Given the description of an element on the screen output the (x, y) to click on. 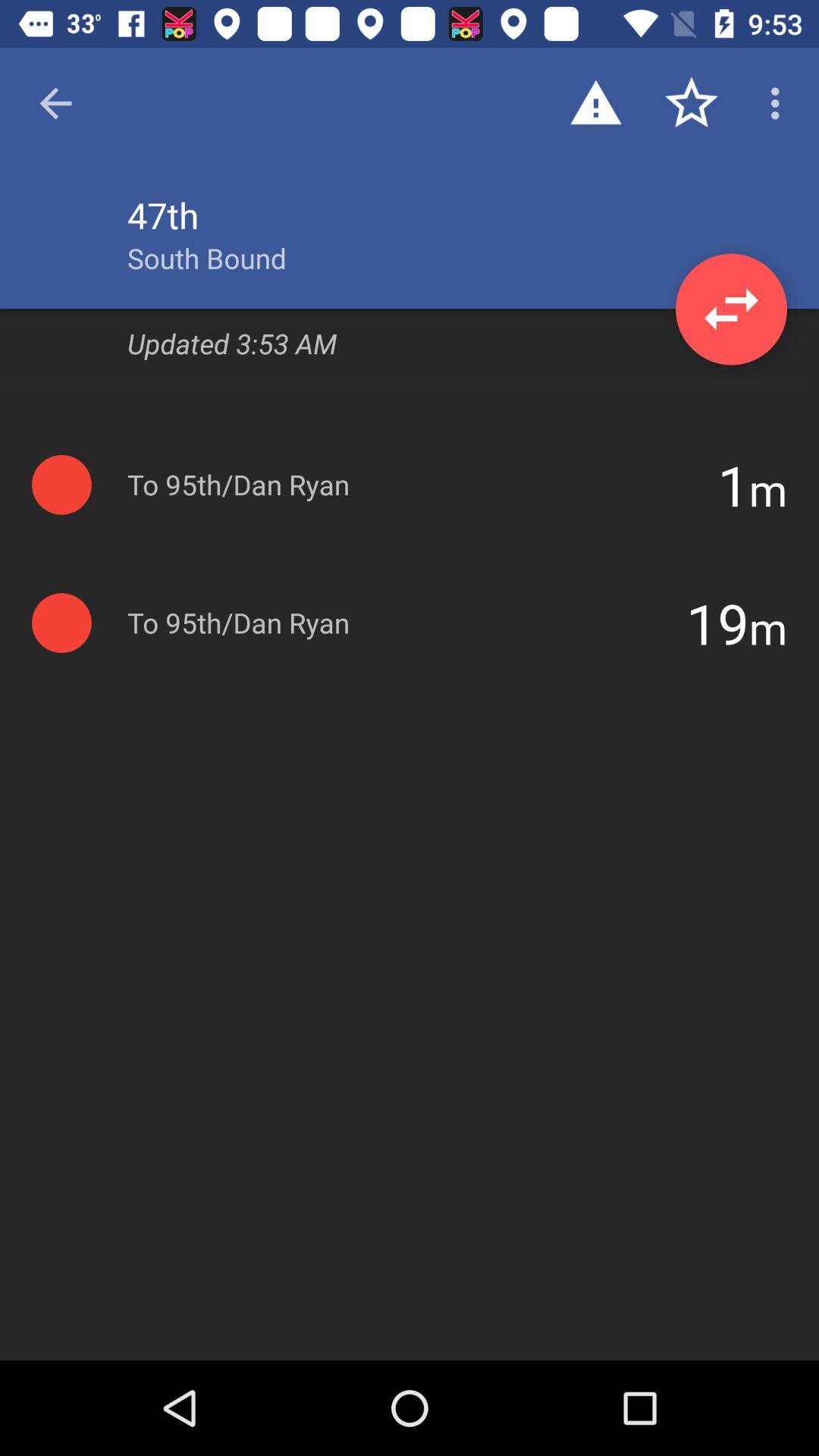
click item next to m icon (717, 622)
